Given the description of an element on the screen output the (x, y) to click on. 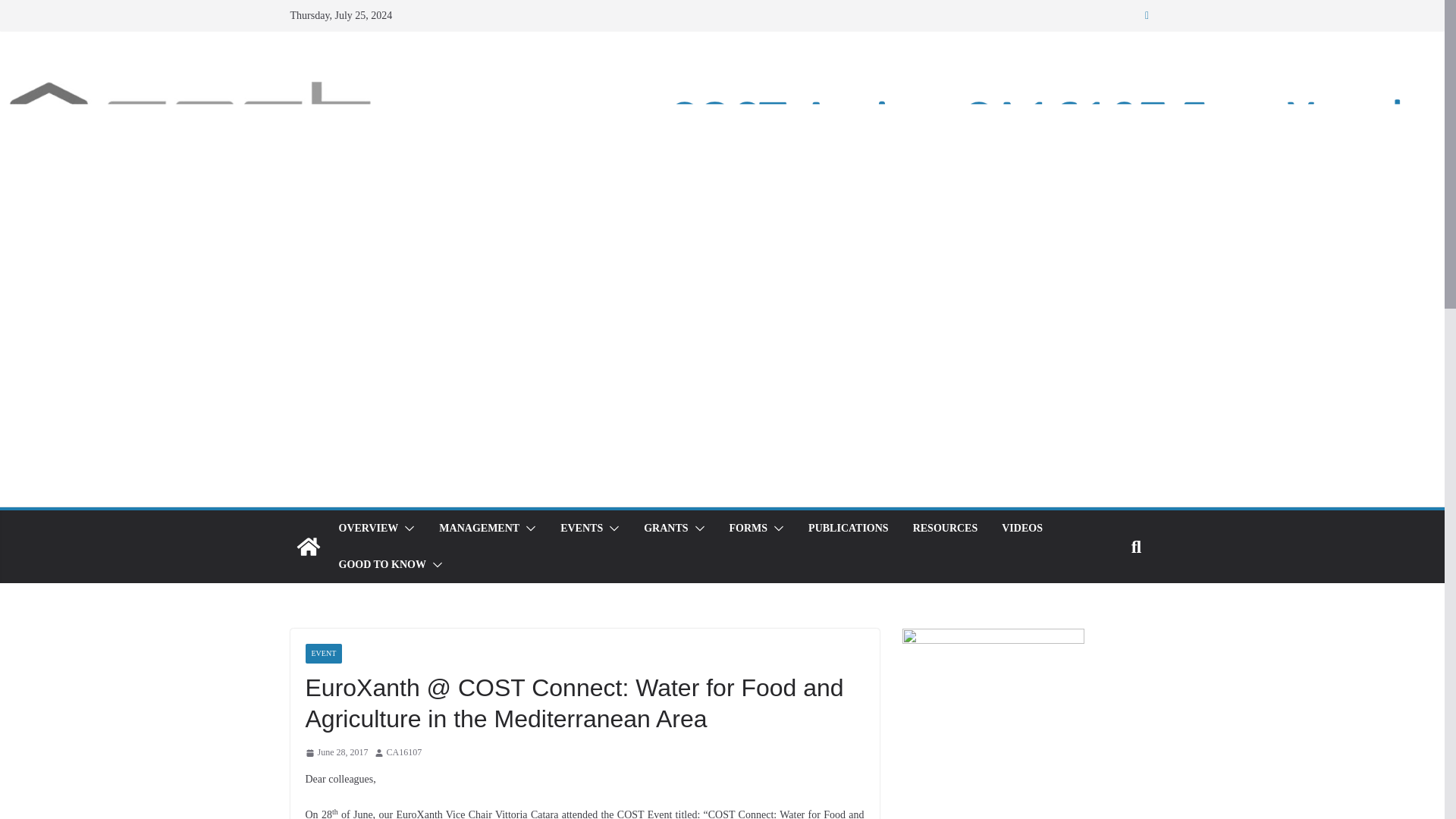
COST Action CA16107 EuroXanth (307, 546)
12:00 pm (336, 752)
OVERVIEW (367, 527)
CA16107 (404, 752)
EVENTS (581, 527)
MANAGEMENT (479, 527)
